Given the description of an element on the screen output the (x, y) to click on. 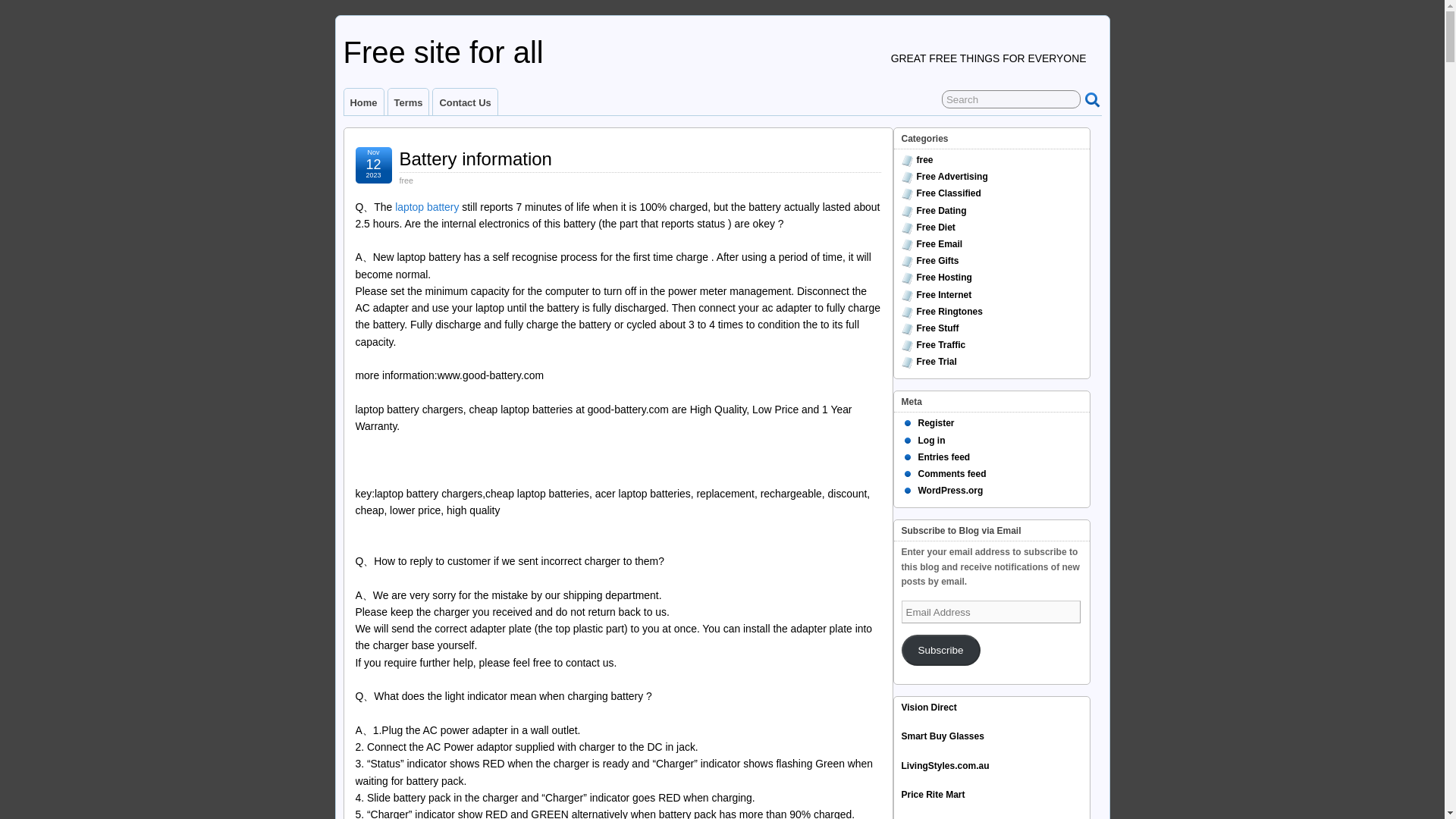
free (405, 180)
Log in (930, 439)
Free site for all (442, 52)
laptop battery (427, 206)
Battery information (474, 158)
WordPress.org (949, 490)
free (924, 159)
Free Email (938, 244)
Free Diet (935, 226)
Search (1011, 99)
